Given the description of an element on the screen output the (x, y) to click on. 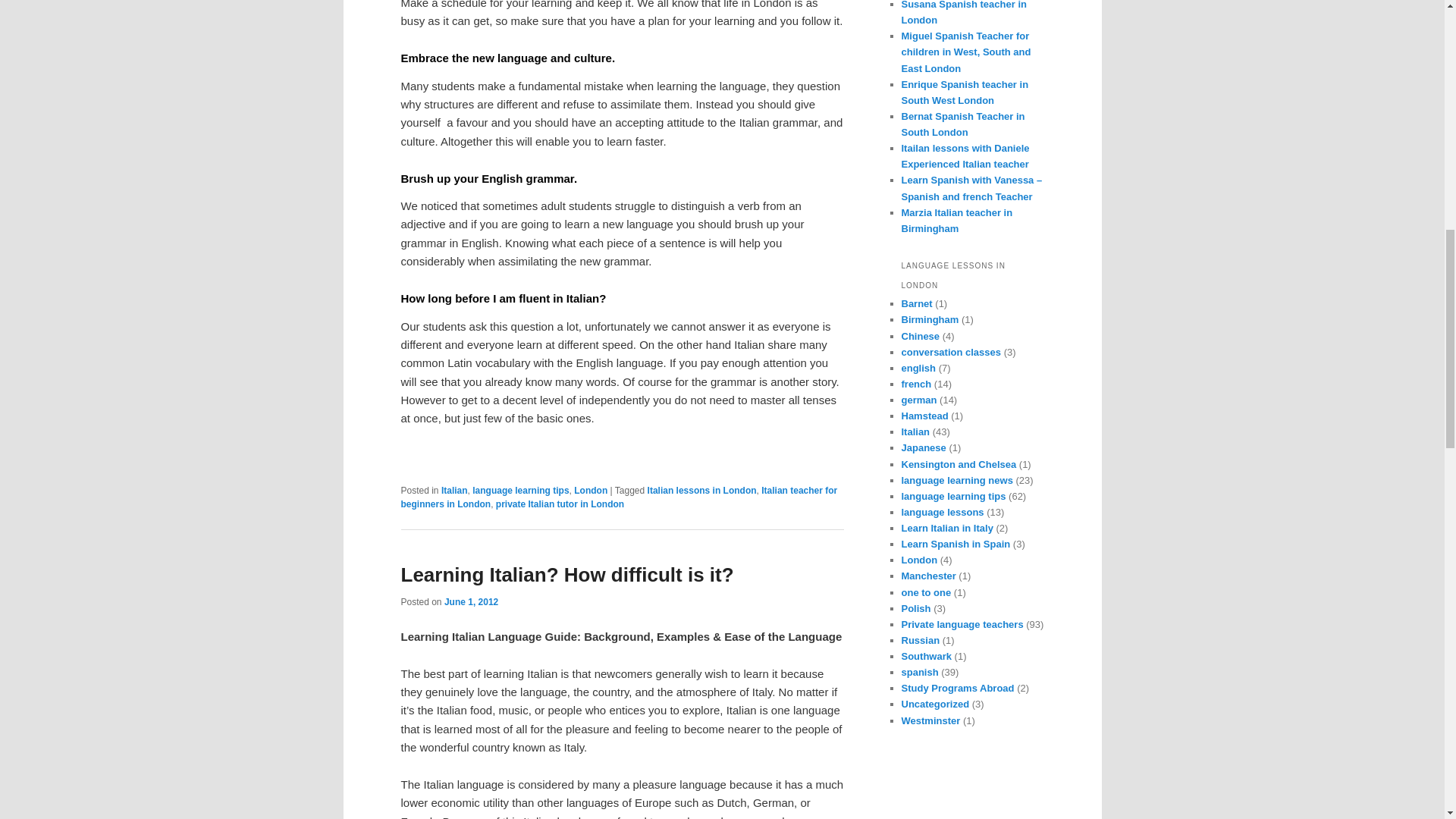
Italian (454, 490)
Italian lessons in London (702, 490)
June 1, 2012 (470, 602)
language learning tips (520, 490)
Italian teacher for beginners in London (618, 497)
6:08 pm (470, 602)
private Italian tutor in London (560, 503)
Learning Italian? How difficult is it? (566, 574)
London (590, 490)
